Given the description of an element on the screen output the (x, y) to click on. 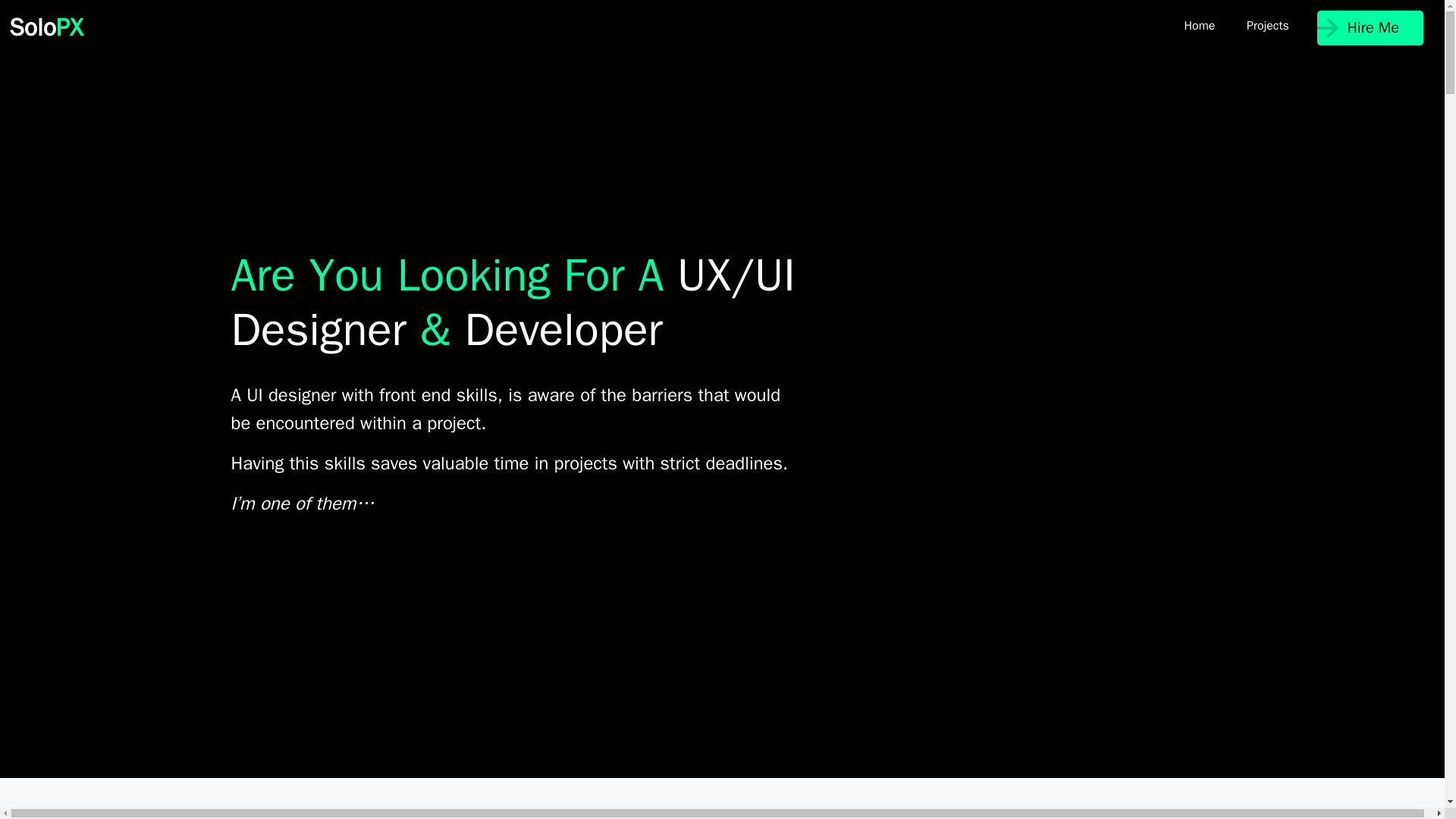
Home (1200, 25)
Projects (1267, 25)
SoloPX (45, 27)
Hire Me (1370, 27)
